Given the description of an element on the screen output the (x, y) to click on. 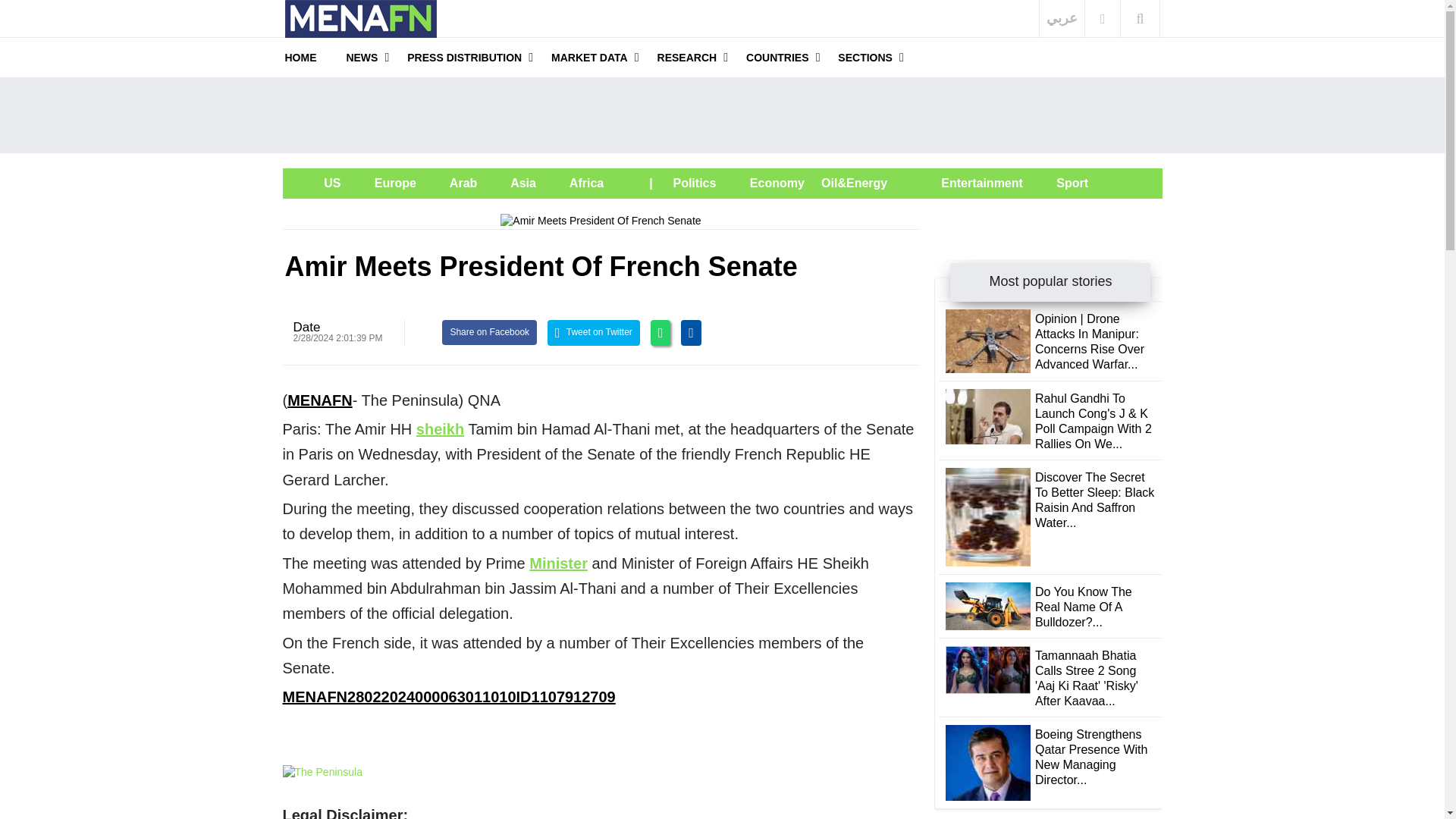
RESEARCH (687, 56)
Amir Meets President Of French Senate (600, 221)
PRESS DISTRIBUTION (464, 56)
MARKET DATA (589, 56)
Posts by NewEdge (306, 327)
